Given the description of an element on the screen output the (x, y) to click on. 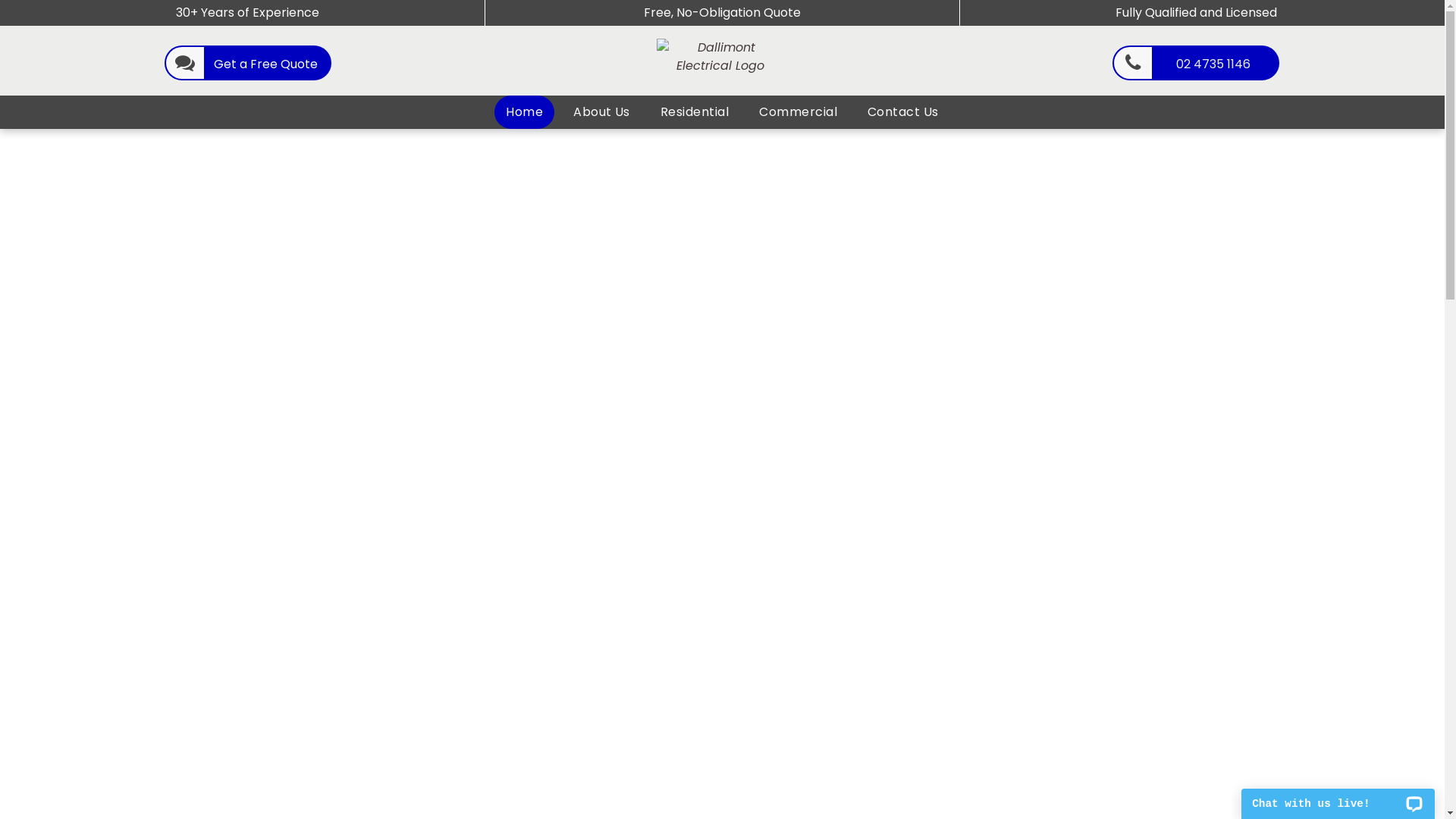
Get a Free Quote Element type: text (247, 62)
Commercial Element type: text (797, 111)
Residential Element type: text (694, 111)
About Us Element type: text (601, 111)
Home Element type: text (524, 111)
02 4735 1146 Element type: text (1195, 62)
Contact Us Element type: text (903, 111)
